Given the description of an element on the screen output the (x, y) to click on. 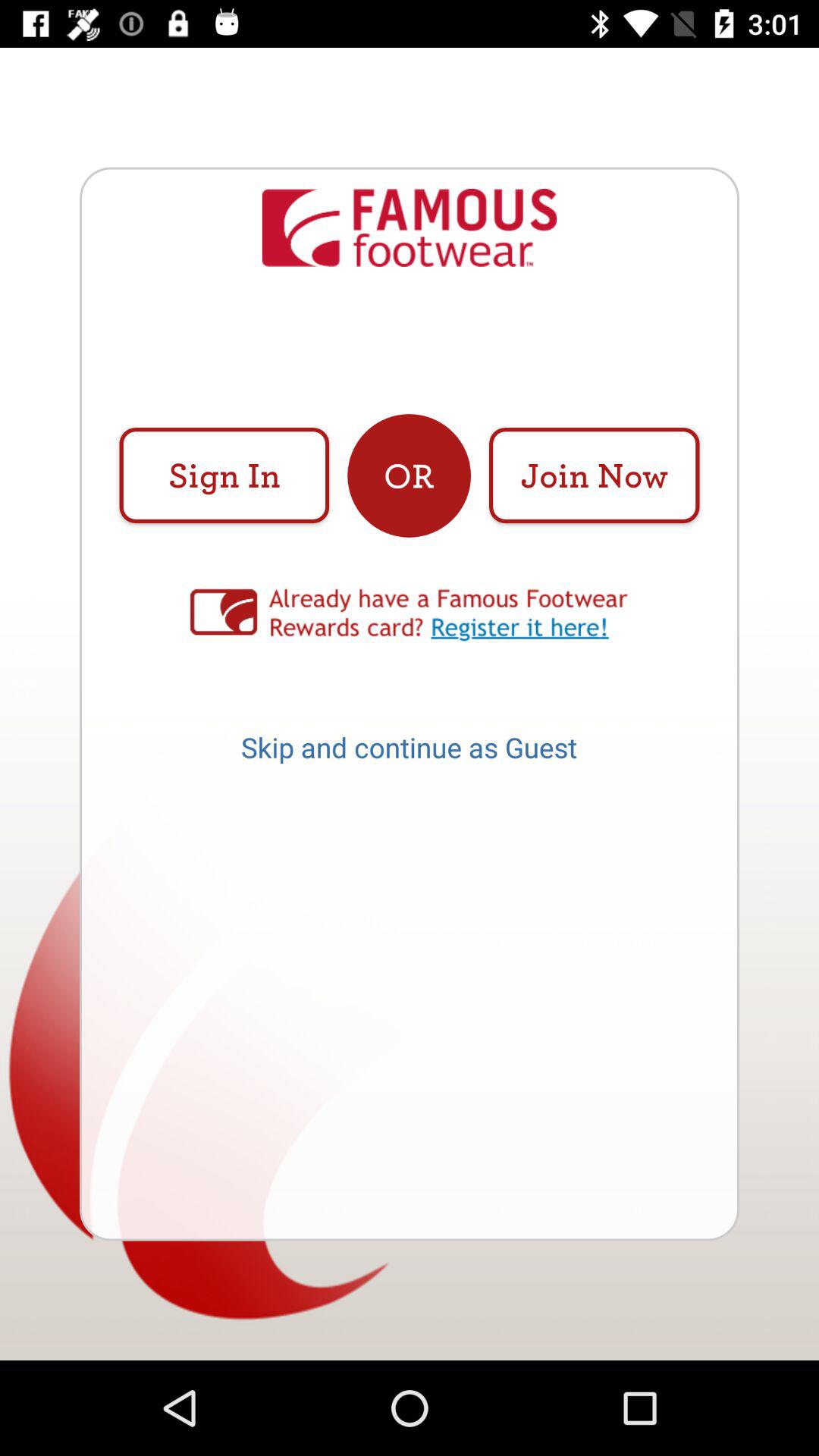
swipe until sign in (224, 475)
